Given the description of an element on the screen output the (x, y) to click on. 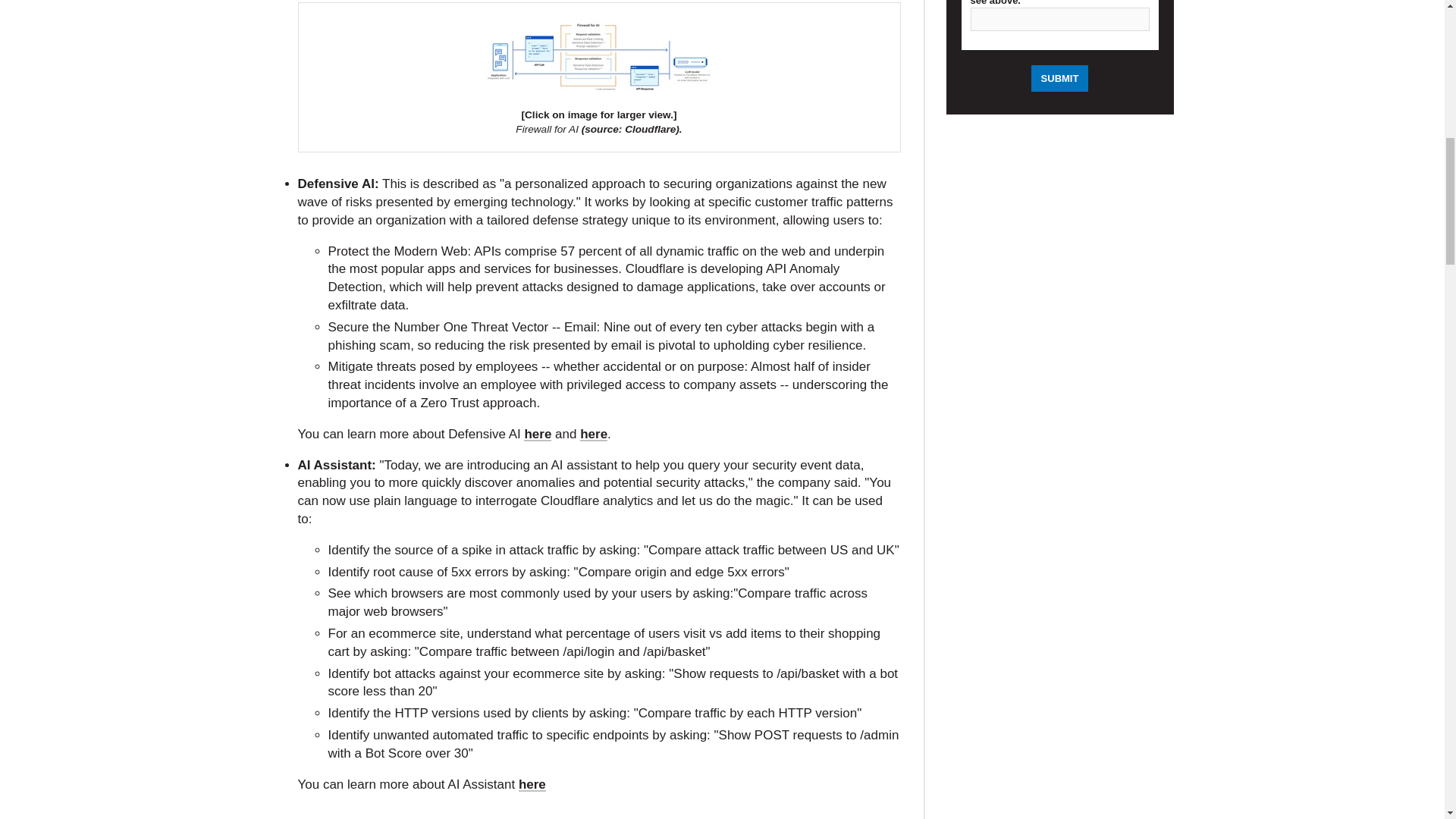
3rd party ad content (583, 812)
3rd party ad content (1059, 732)
Submit (1059, 78)
